Given the description of an element on the screen output the (x, y) to click on. 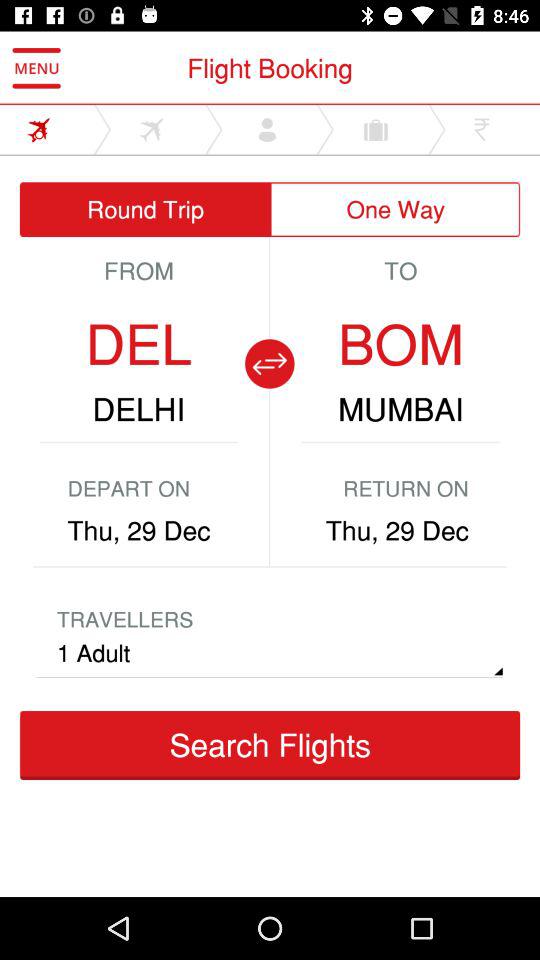
switch/flip icon (269, 363)
